Given the description of an element on the screen output the (x, y) to click on. 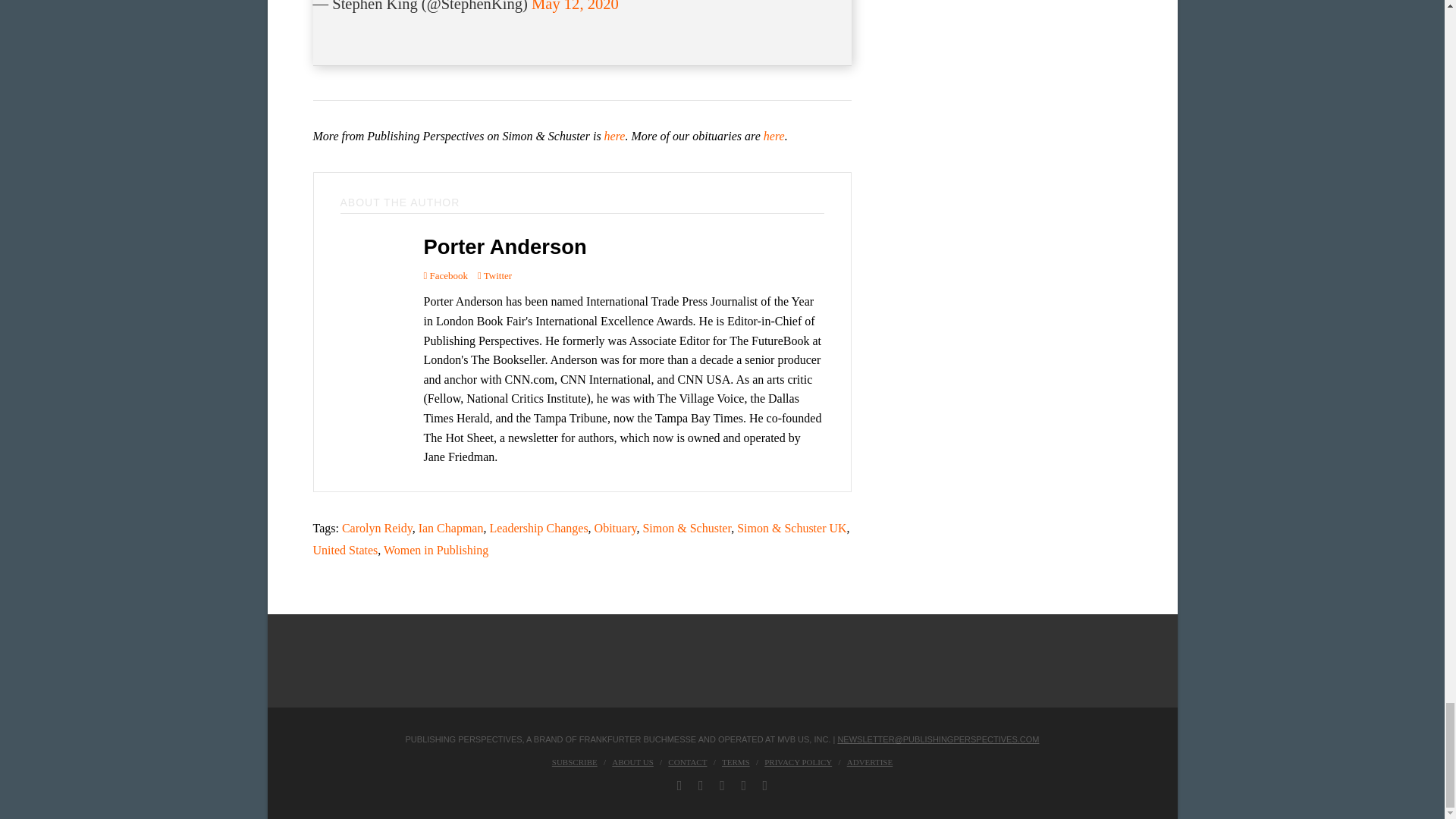
Subscribe to Publishing Perspectives (573, 761)
Terms and Conditions (735, 761)
Visit the Facebook Profile for Porter Anderson (445, 275)
Visit the Twitter Profile for Porter Anderson (494, 275)
